Given the description of an element on the screen output the (x, y) to click on. 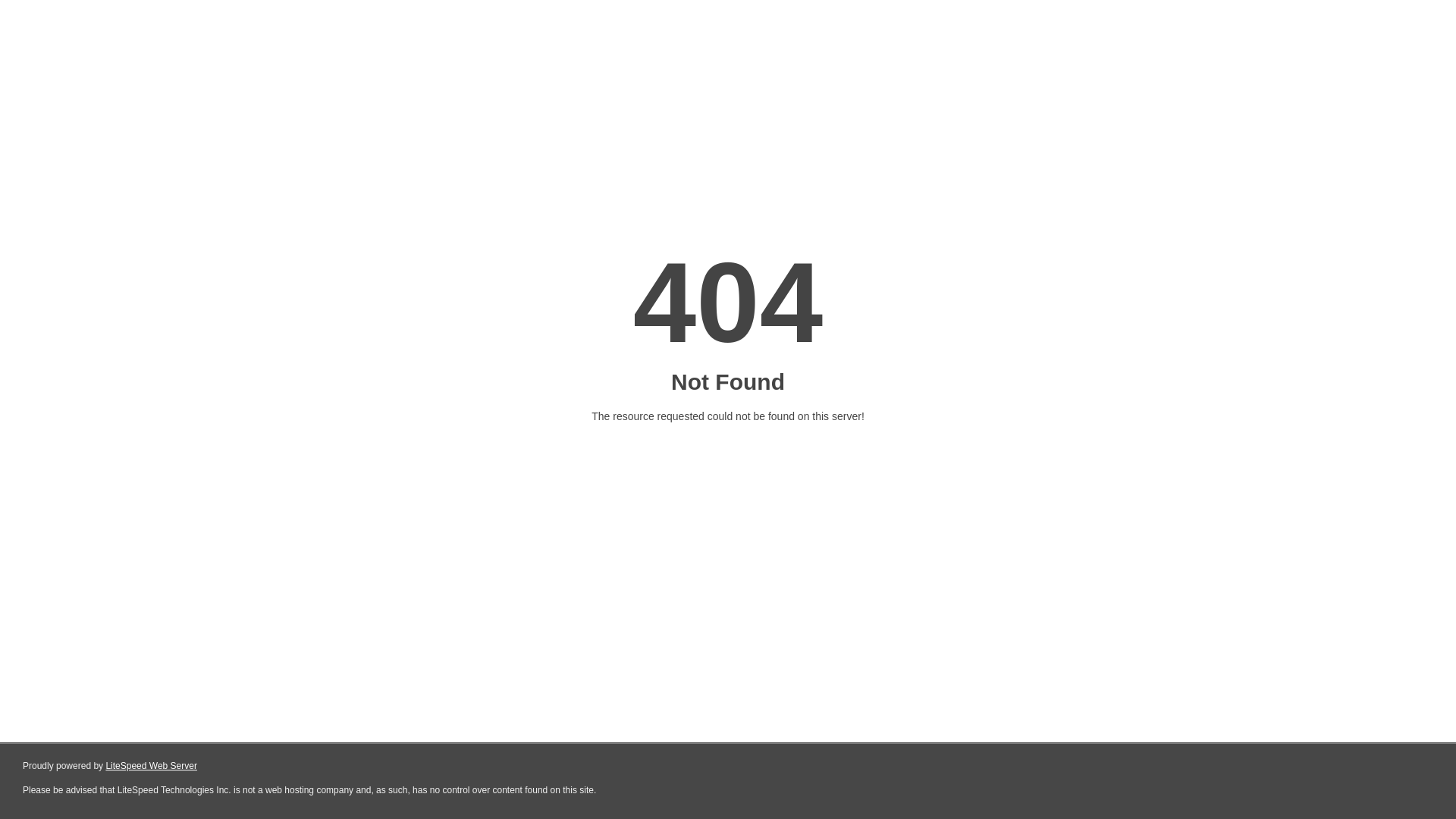
LiteSpeed Web Server Element type: text (151, 765)
